Given the description of an element on the screen output the (x, y) to click on. 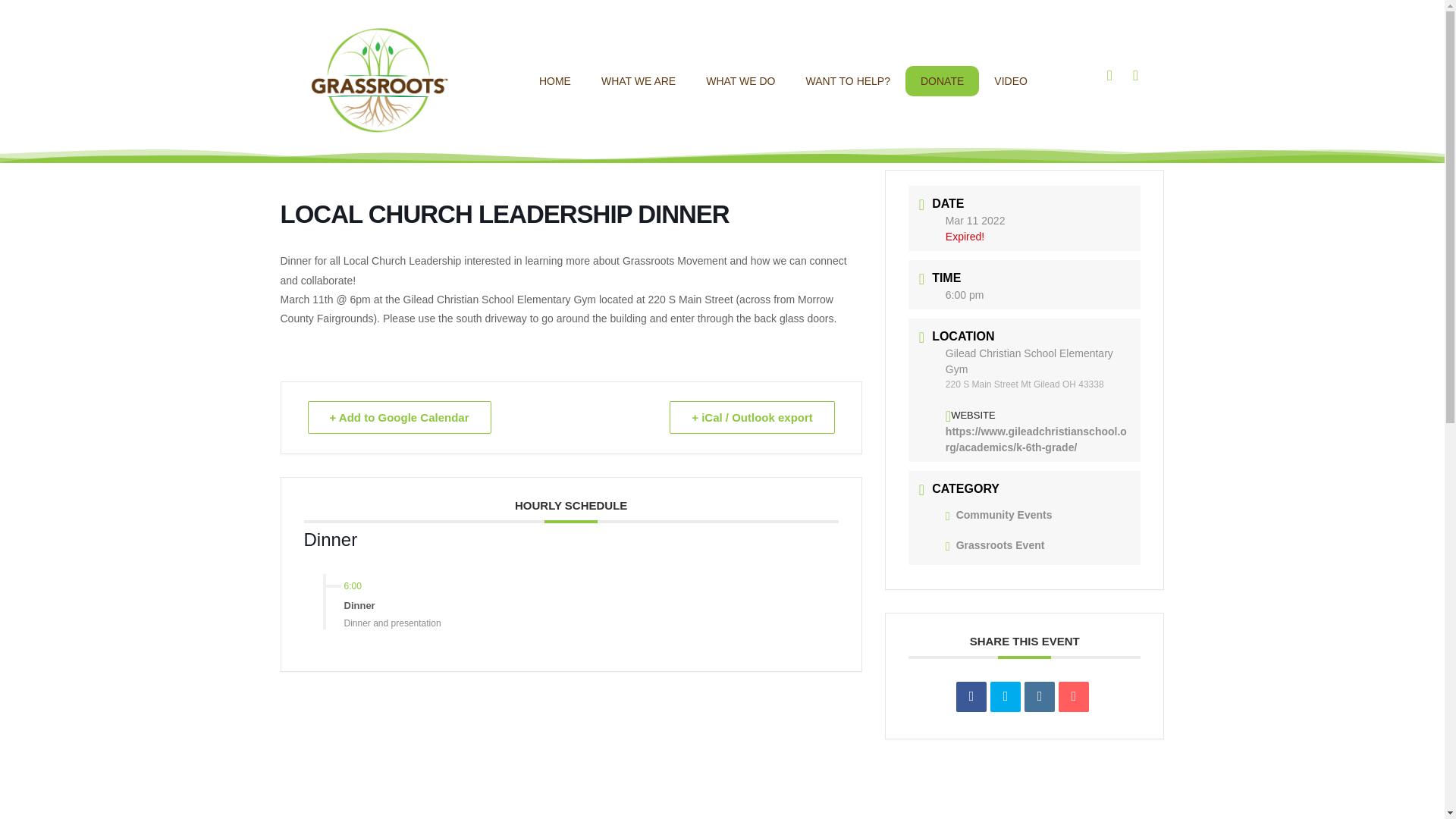
WANT TO HELP? (847, 81)
Grassroots Event (994, 544)
VIDEO (1010, 81)
Share on Facebook (971, 696)
Tweet (1005, 696)
Email (1073, 696)
DONATE (941, 81)
Linkedin (1039, 696)
WHAT WE DO (740, 81)
HOME (555, 81)
